Given the description of an element on the screen output the (x, y) to click on. 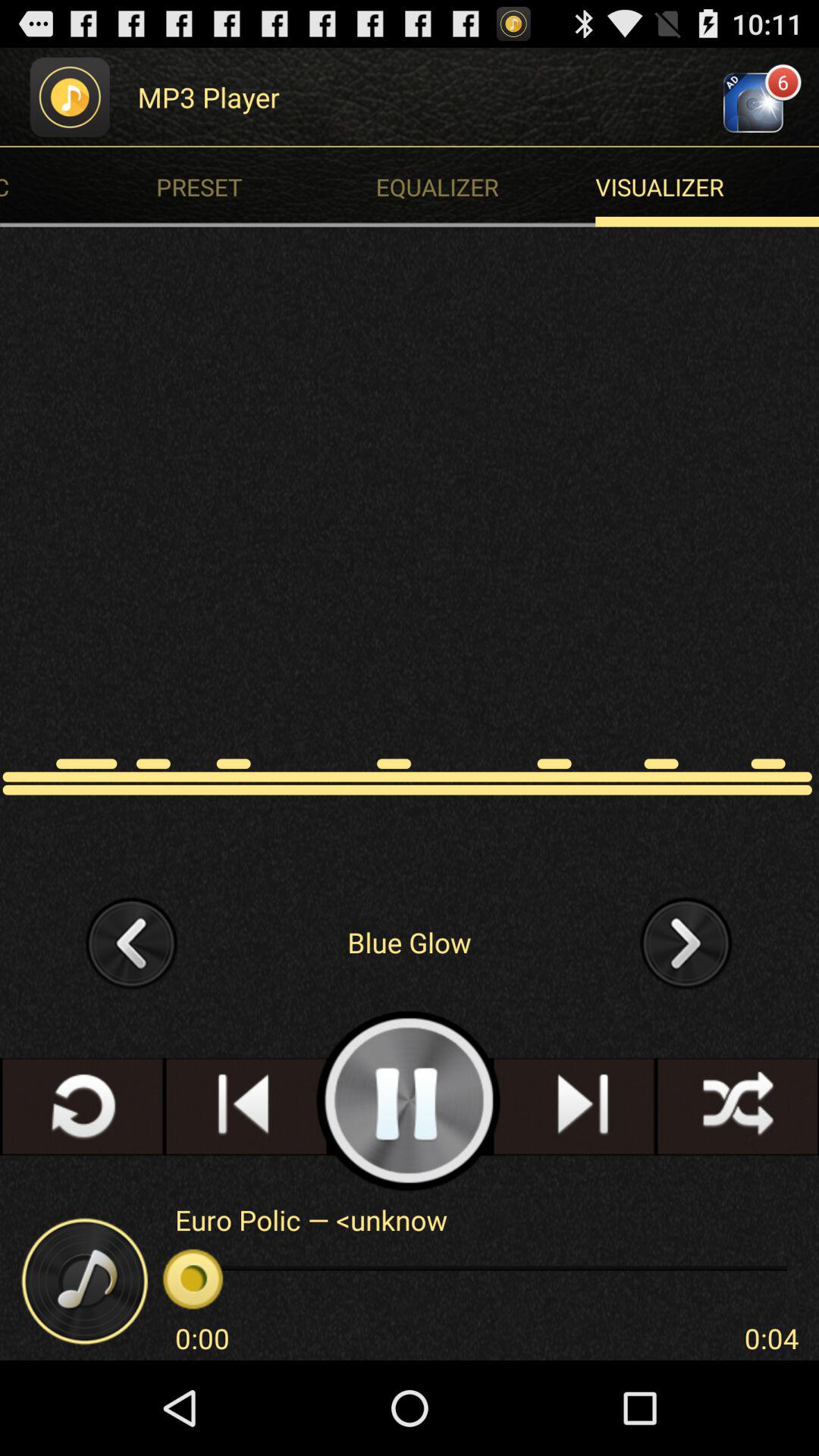
turn on the icon next to the blue glow (131, 941)
